Given the description of an element on the screen output the (x, y) to click on. 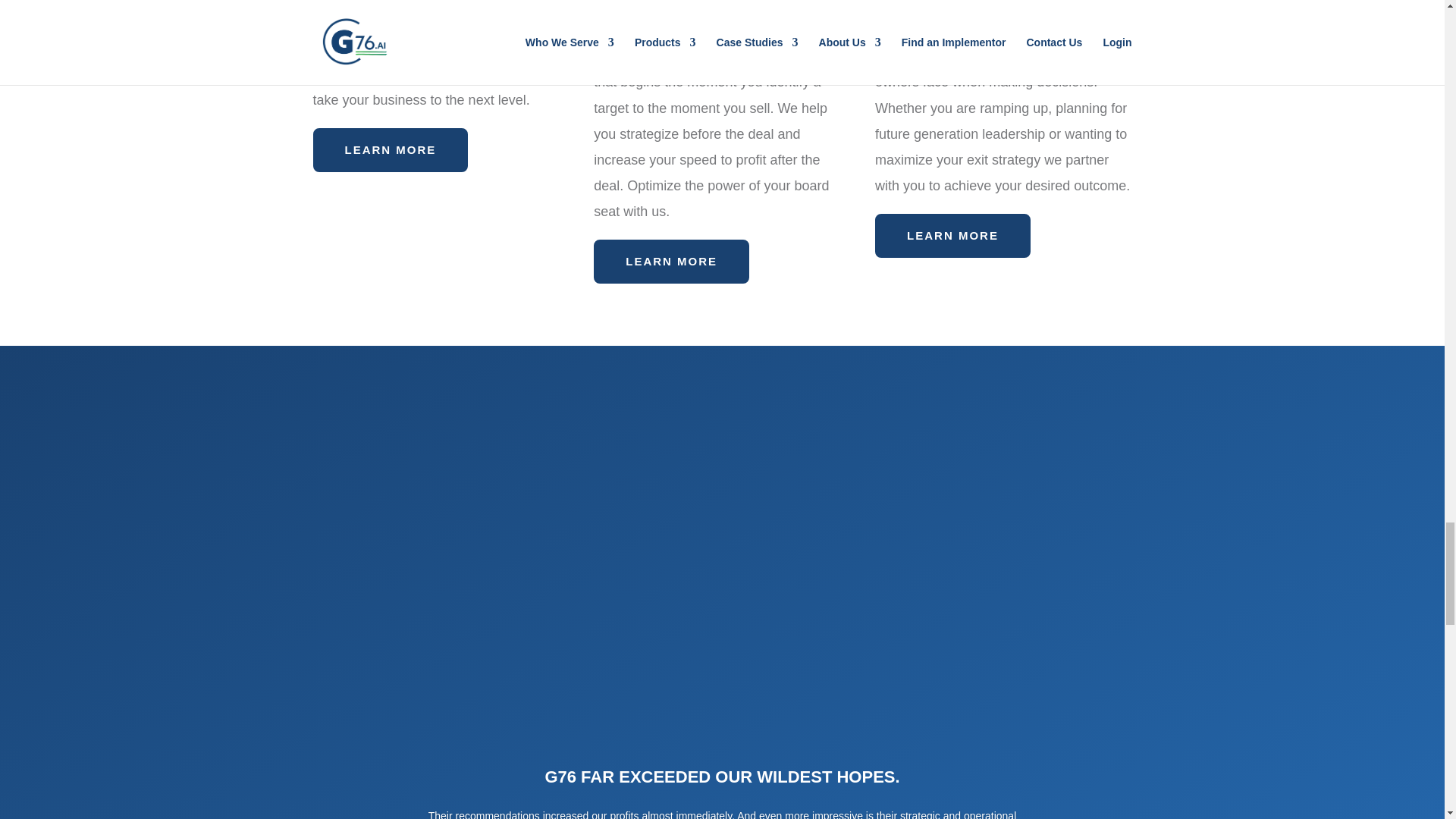
LEARN MORE (390, 149)
LEARN MORE (671, 261)
